Given the description of an element on the screen output the (x, y) to click on. 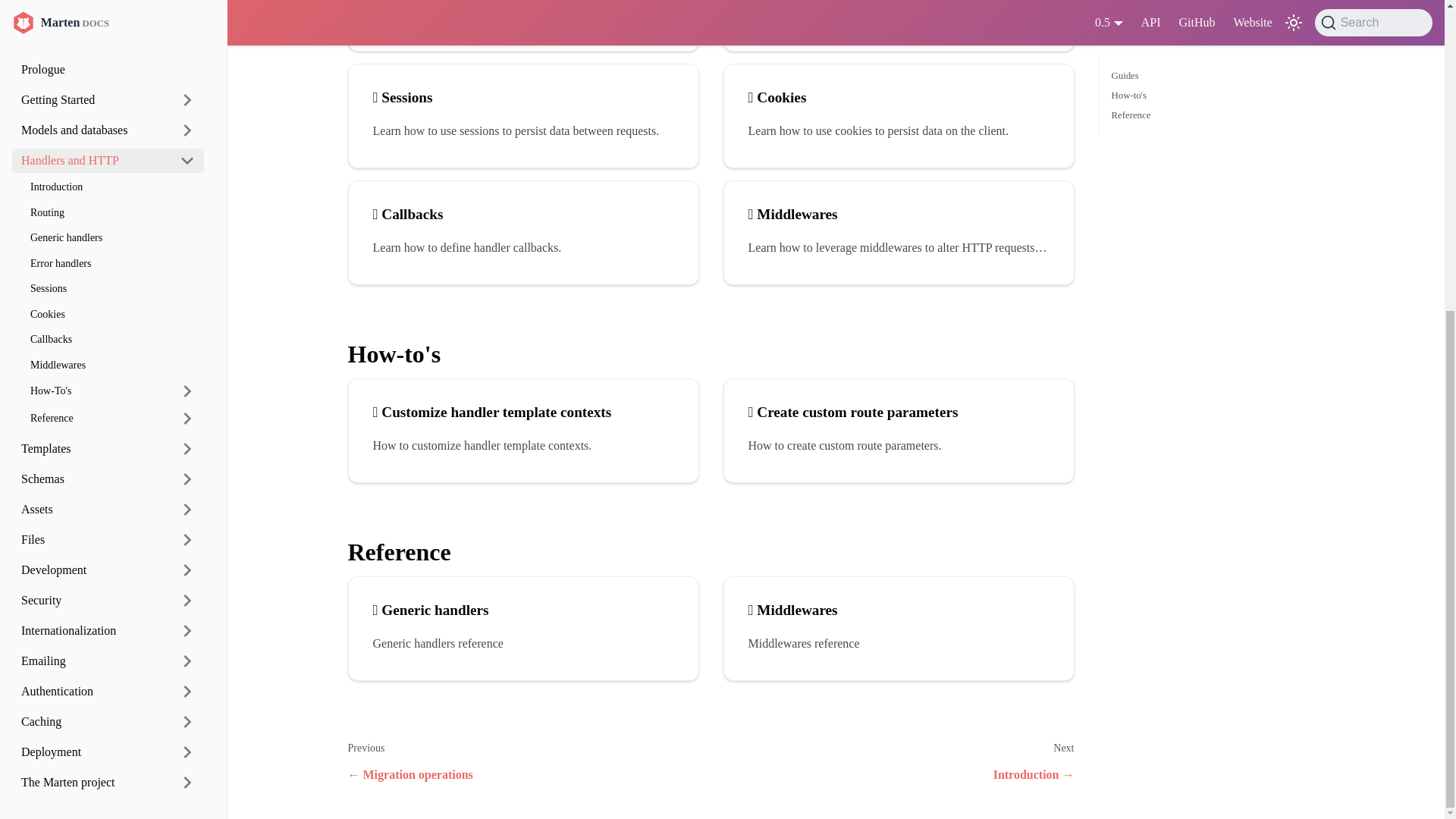
Cookies (898, 97)
Assets (90, 15)
Callbacks (523, 214)
Middlewares (898, 214)
Learn how to use cookies to persist data on the client. (898, 130)
Learn how to define handler callbacks. (523, 247)
Learn how to use sessions to persist data between requests. (523, 130)
